Given the description of an element on the screen output the (x, y) to click on. 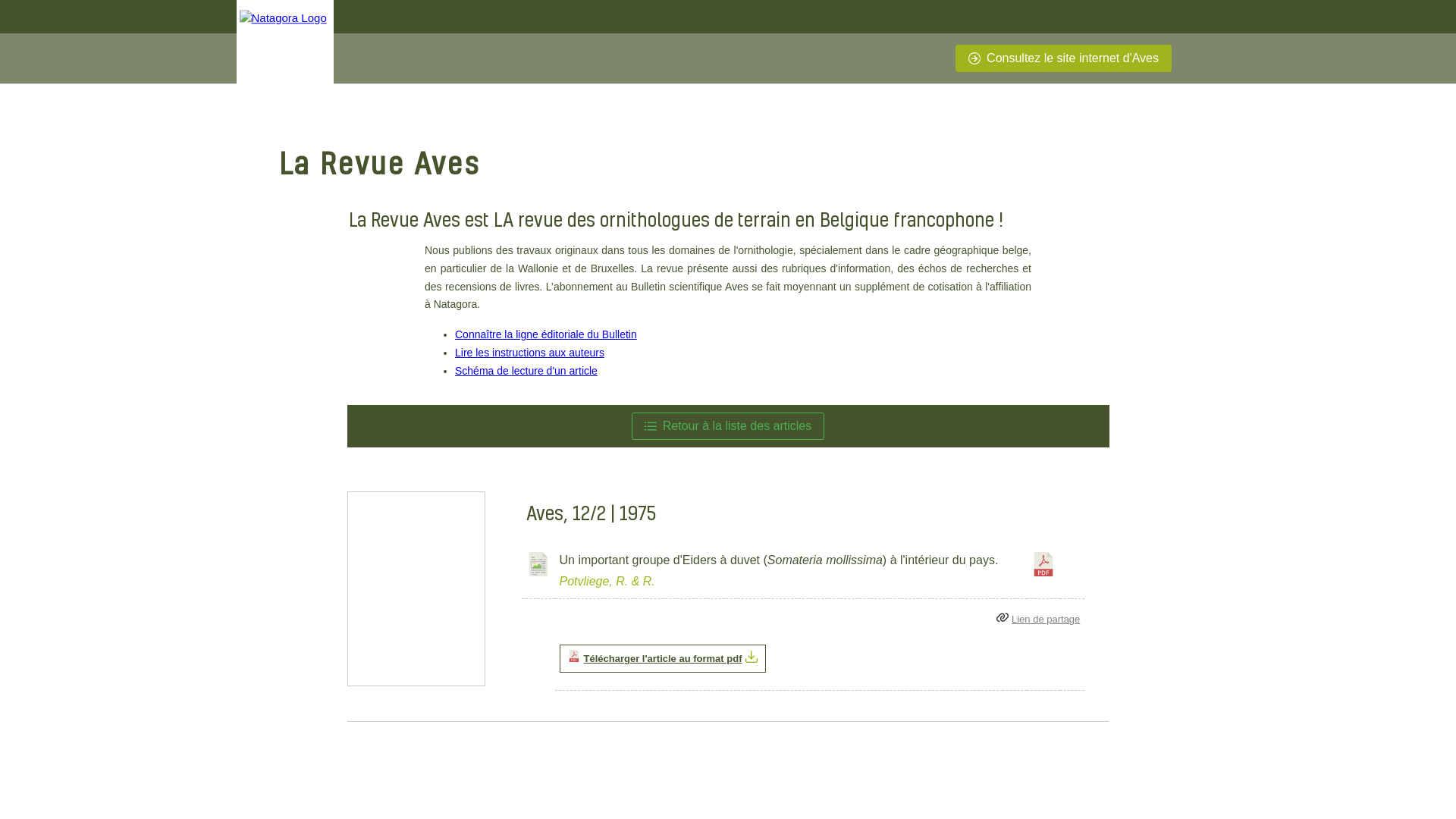
Lire les instructions aux auteurs Element type: text (529, 352)
Article Element type: hover (538, 564)
Lien de partage Element type: text (1045, 618)
L'article est disponible en pdf Element type: hover (1043, 564)
Consultez le site internet d'Aves Element type: text (1063, 58)
